Given the description of an element on the screen output the (x, y) to click on. 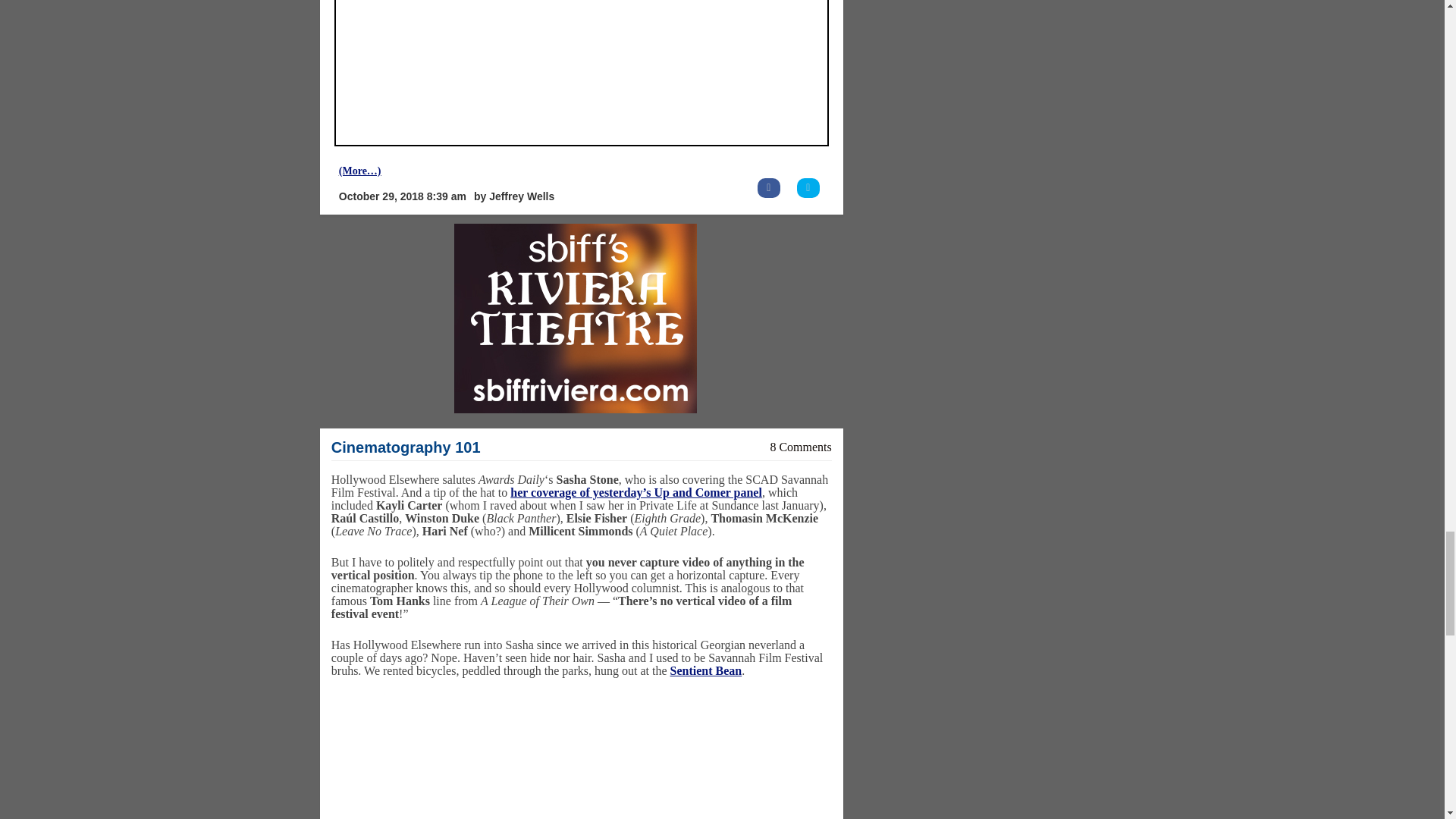
Permanent Link to Cinematography 101 (405, 446)
